Given the description of an element on the screen output the (x, y) to click on. 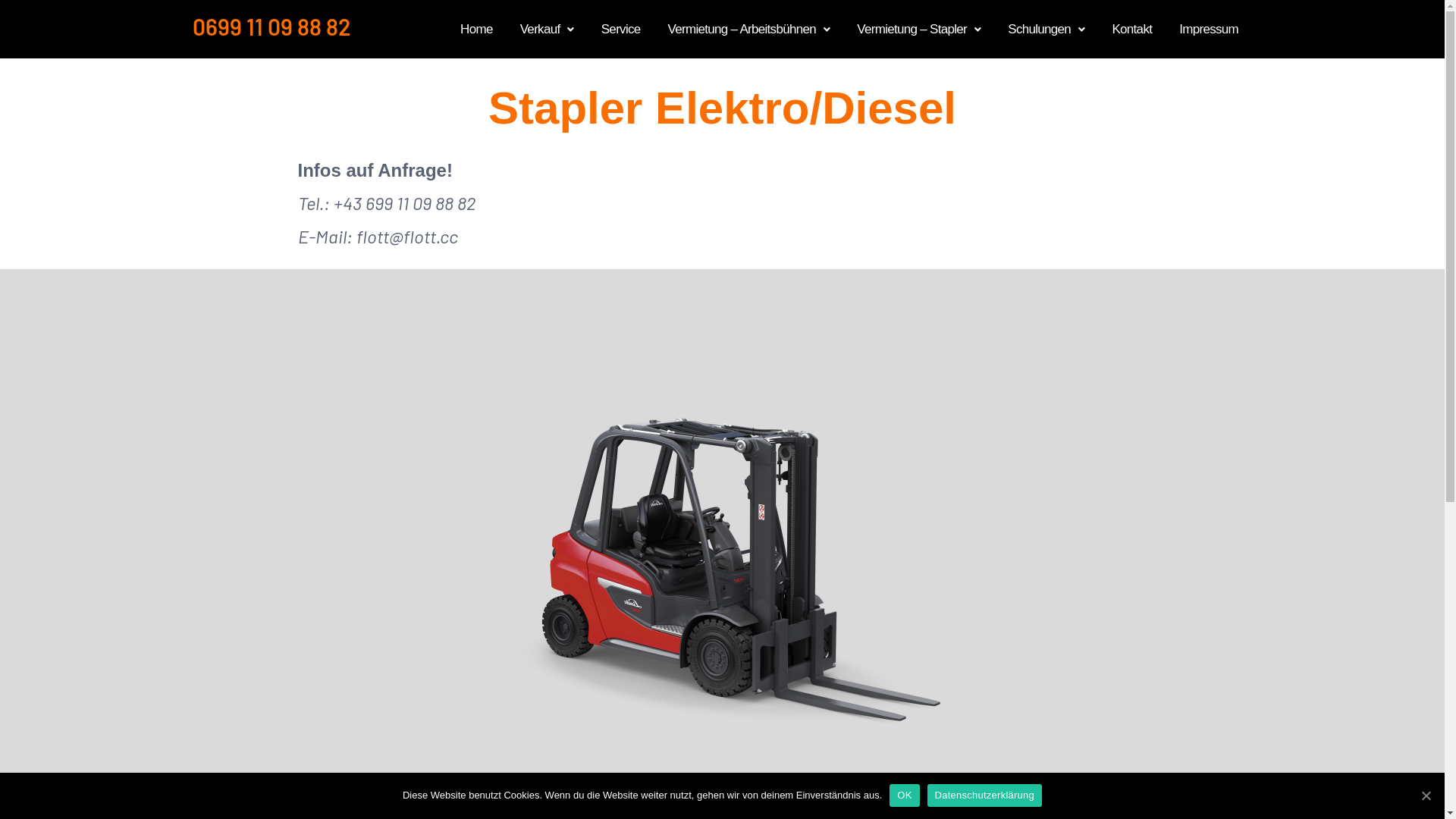
Schulungen Element type: text (1046, 29)
Impressum Element type: text (1208, 29)
Verkauf Element type: text (546, 29)
Service Element type: text (620, 29)
Kontakt Element type: text (1131, 29)
Home Element type: text (476, 29)
OK Element type: text (904, 795)
